Given the description of an element on the screen output the (x, y) to click on. 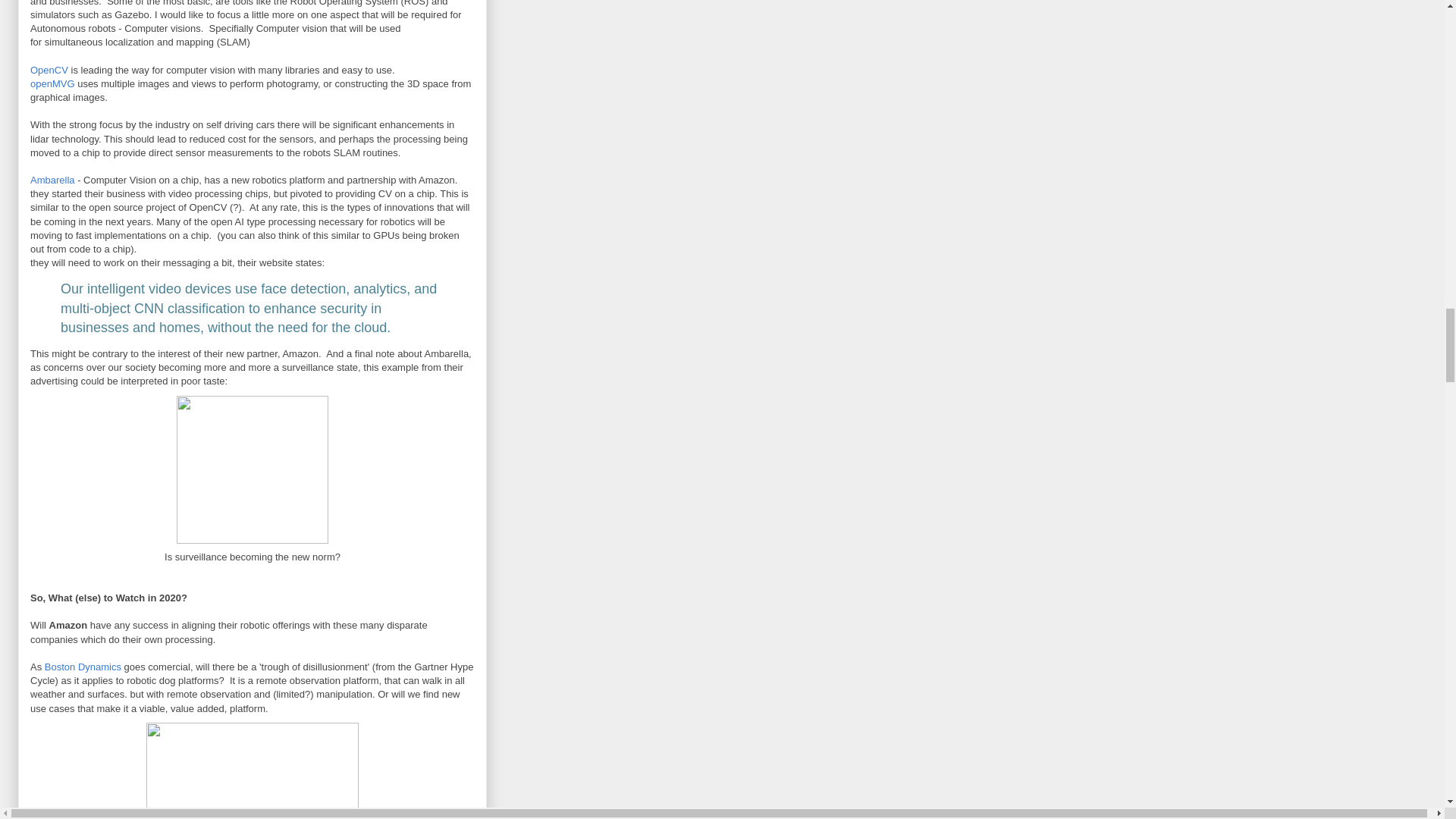
OpenCV (49, 70)
Boston Dynamics (82, 666)
Ambarella (52, 179)
openMVG (52, 83)
